Given the description of an element on the screen output the (x, y) to click on. 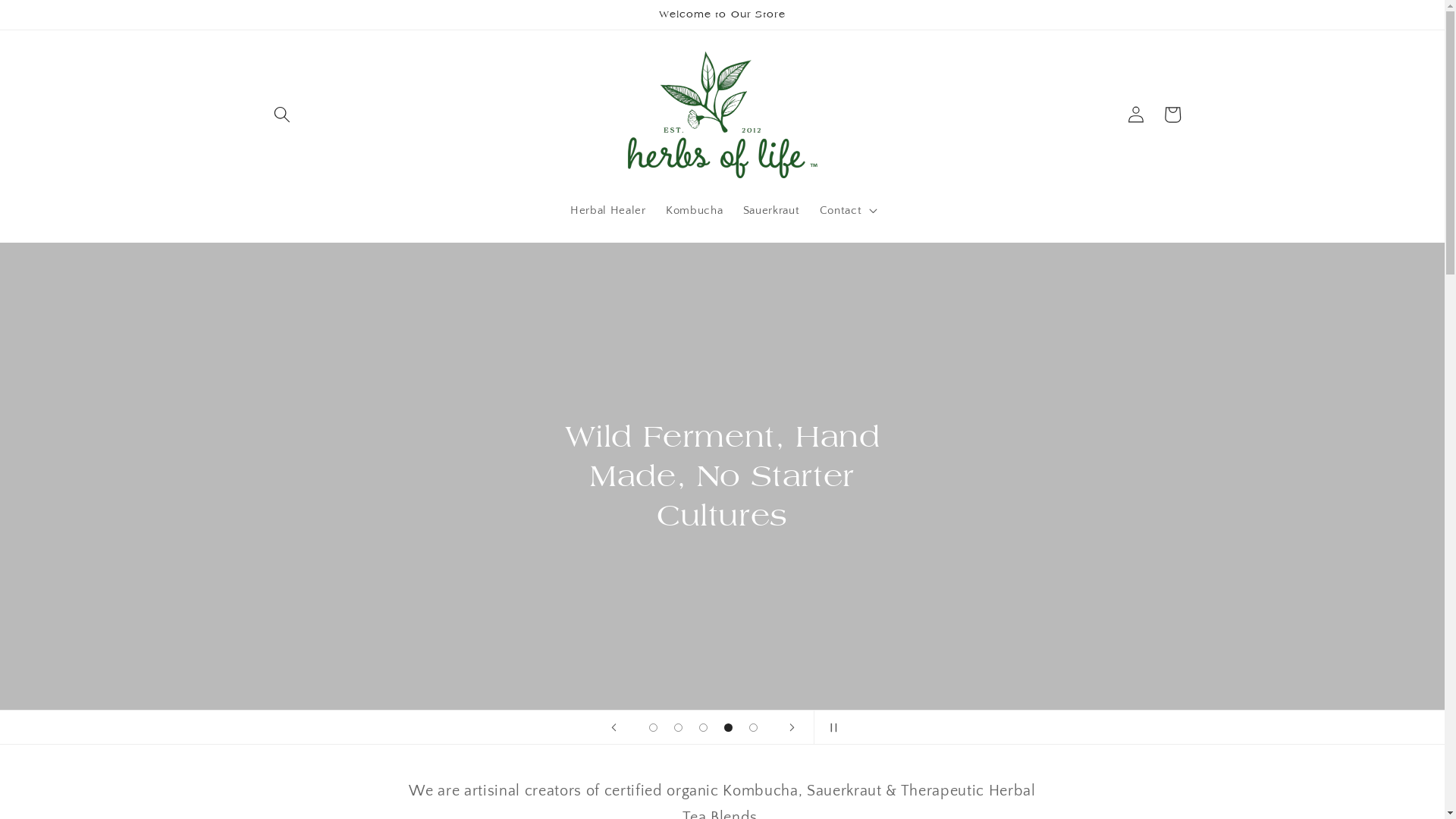
Log in Element type: text (1135, 114)
Cart Element type: text (1172, 114)
Herbal Healer Element type: text (607, 209)
Kombucha Element type: text (694, 209)
Sauerkraut Element type: text (771, 209)
